Given the description of an element on the screen output the (x, y) to click on. 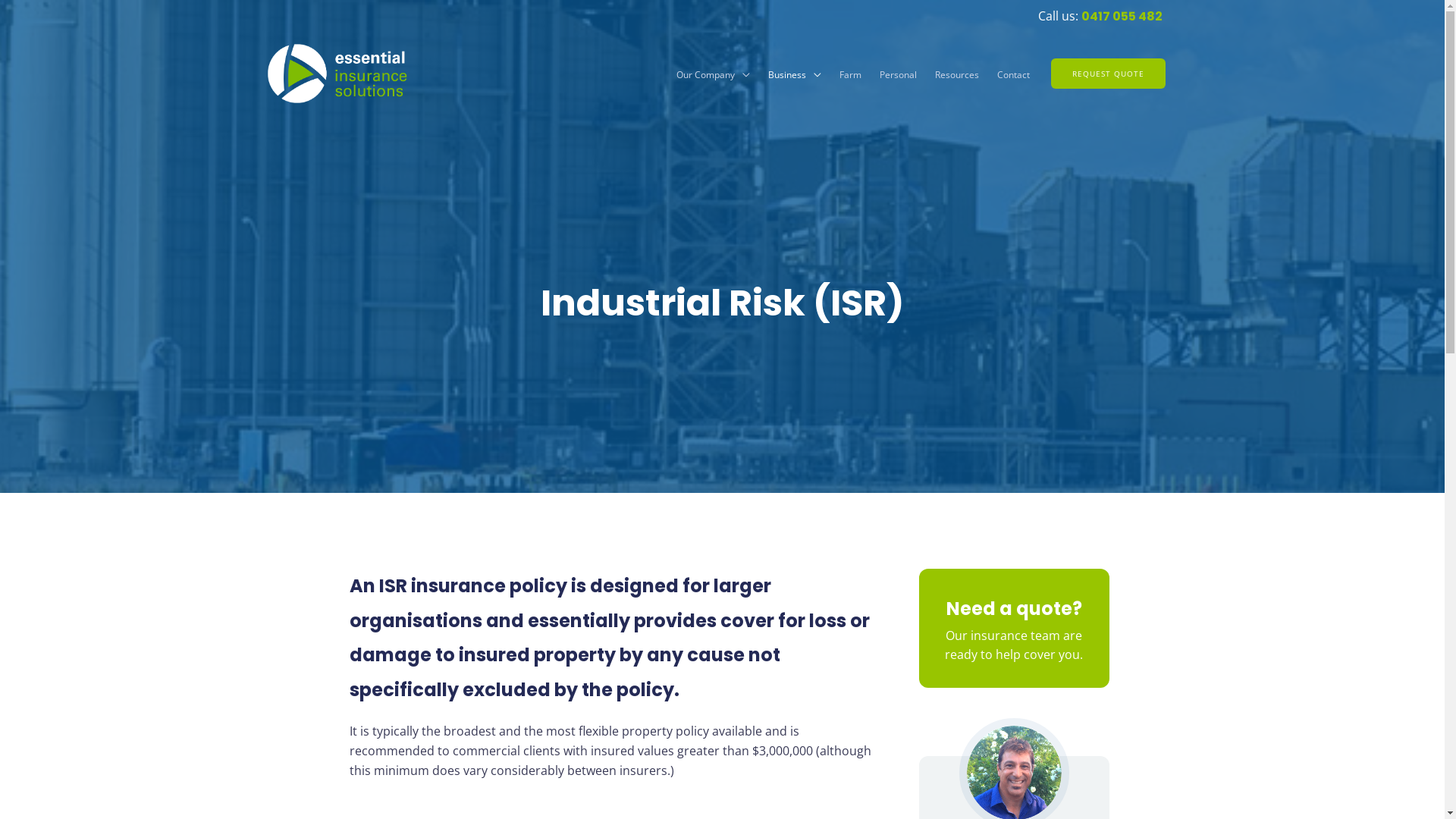
Farm Element type: text (849, 74)
Contact Element type: text (1012, 74)
Our Company Element type: text (713, 74)
REQUEST QUOTE Element type: text (1108, 73)
Call us: 0417 055 482 Element type: text (1106, 15)
Business Element type: text (793, 74)
Personal Element type: text (897, 74)
Resources Element type: text (956, 74)
